Given the description of an element on the screen output the (x, y) to click on. 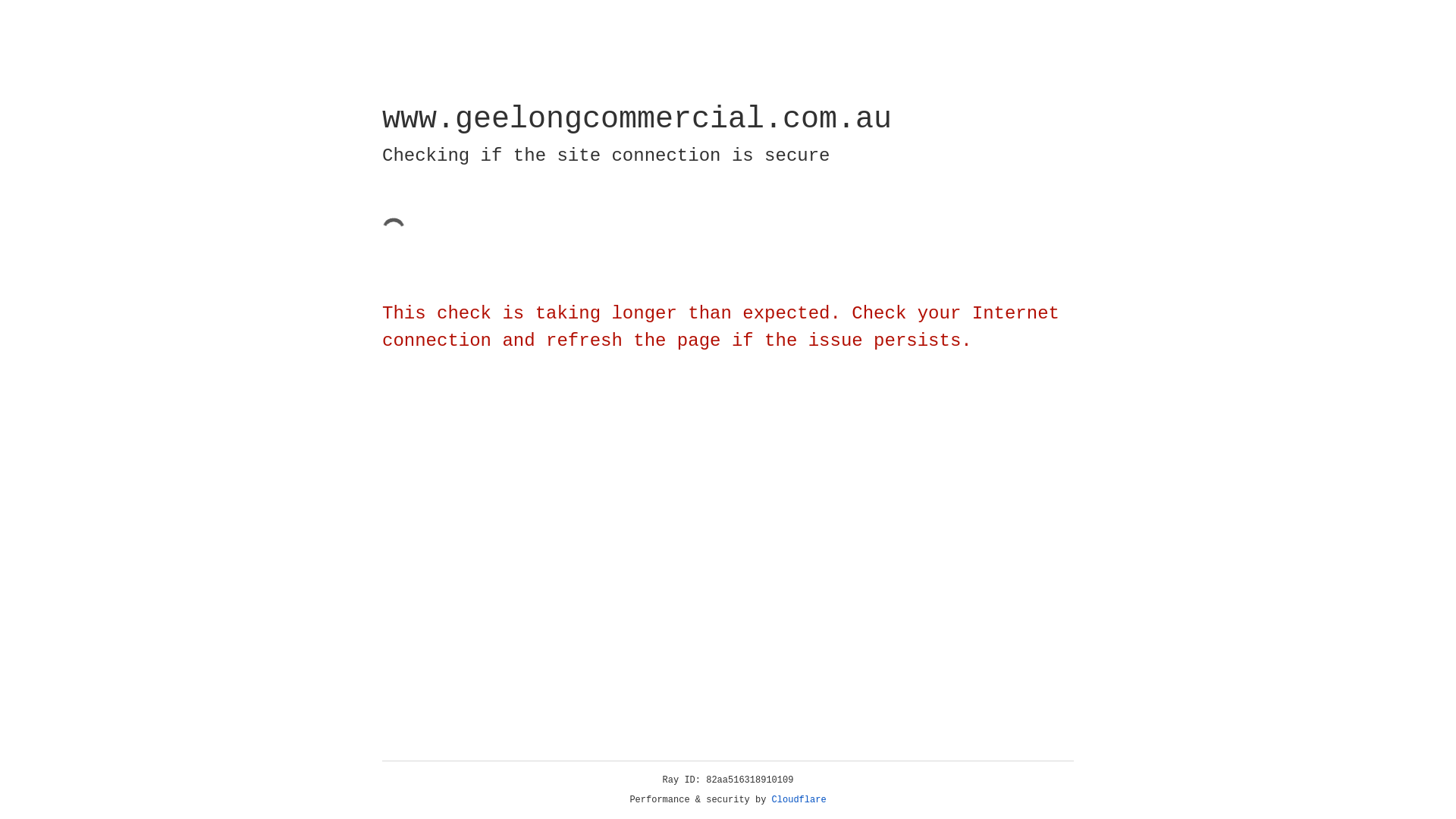
Cloudflare Element type: text (798, 799)
